Given the description of an element on the screen output the (x, y) to click on. 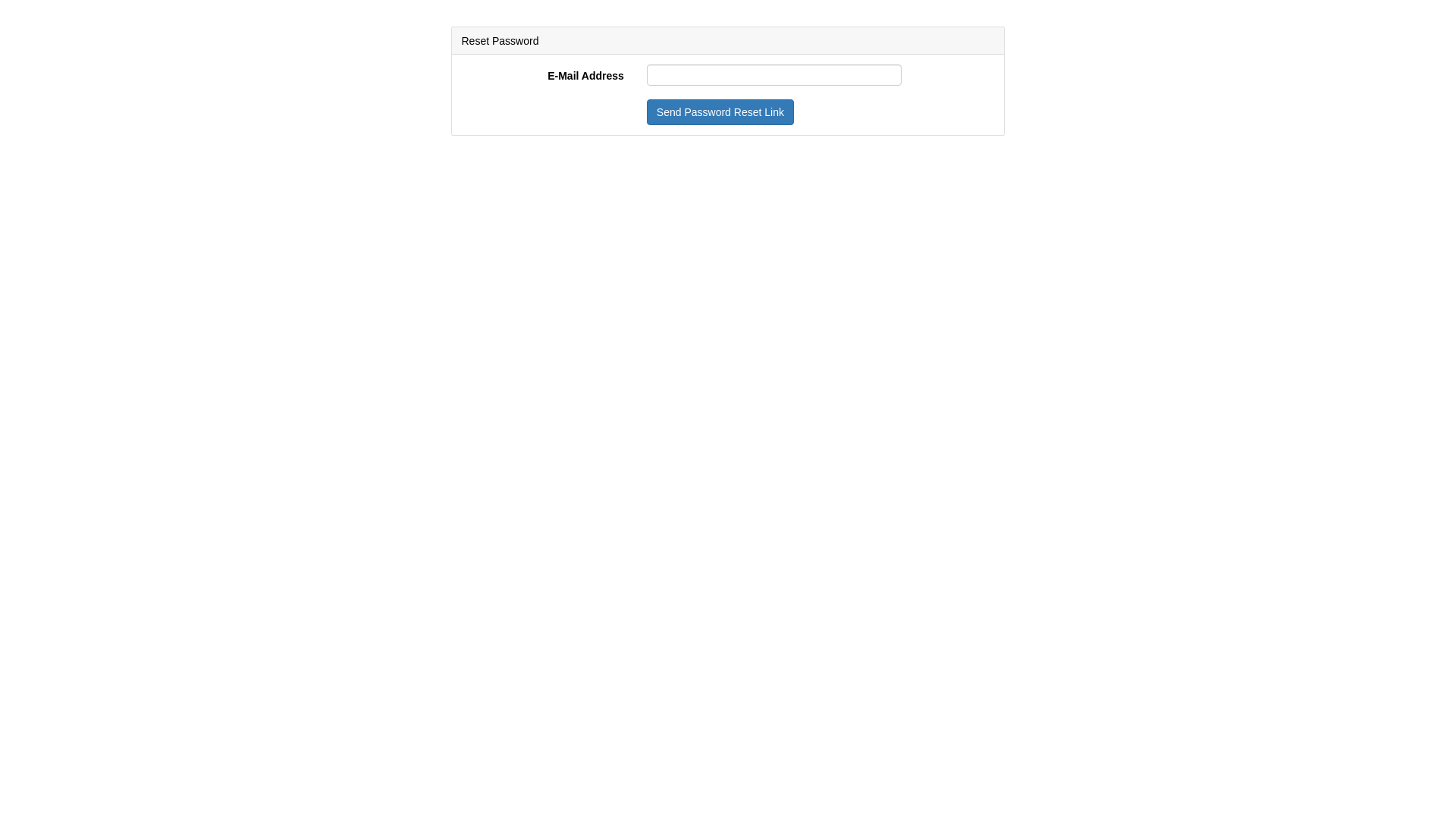
Send Password Reset Link Element type: text (719, 112)
